Given the description of an element on the screen output the (x, y) to click on. 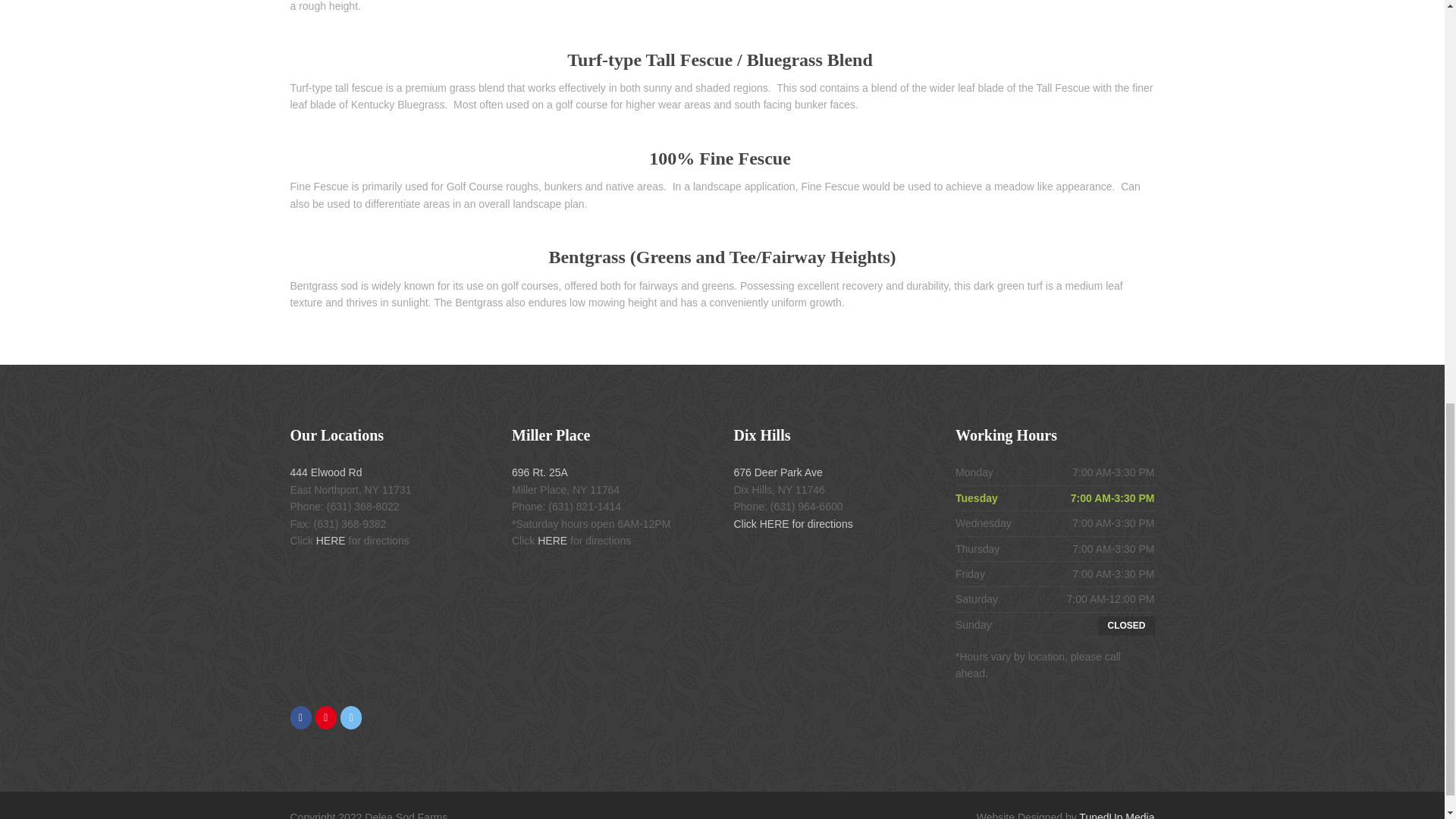
696 Rt. 25A (539, 472)
Delea Sod Farms on Instagram (325, 717)
HERE (330, 540)
Delea Sod Farms on Facebook (300, 717)
HERE (552, 540)
444 Elwood Rd (325, 472)
HERE (774, 522)
Delea Sod Farms on X Twitter (350, 717)
676 Deer Park Ave (777, 472)
